Given the description of an element on the screen output the (x, y) to click on. 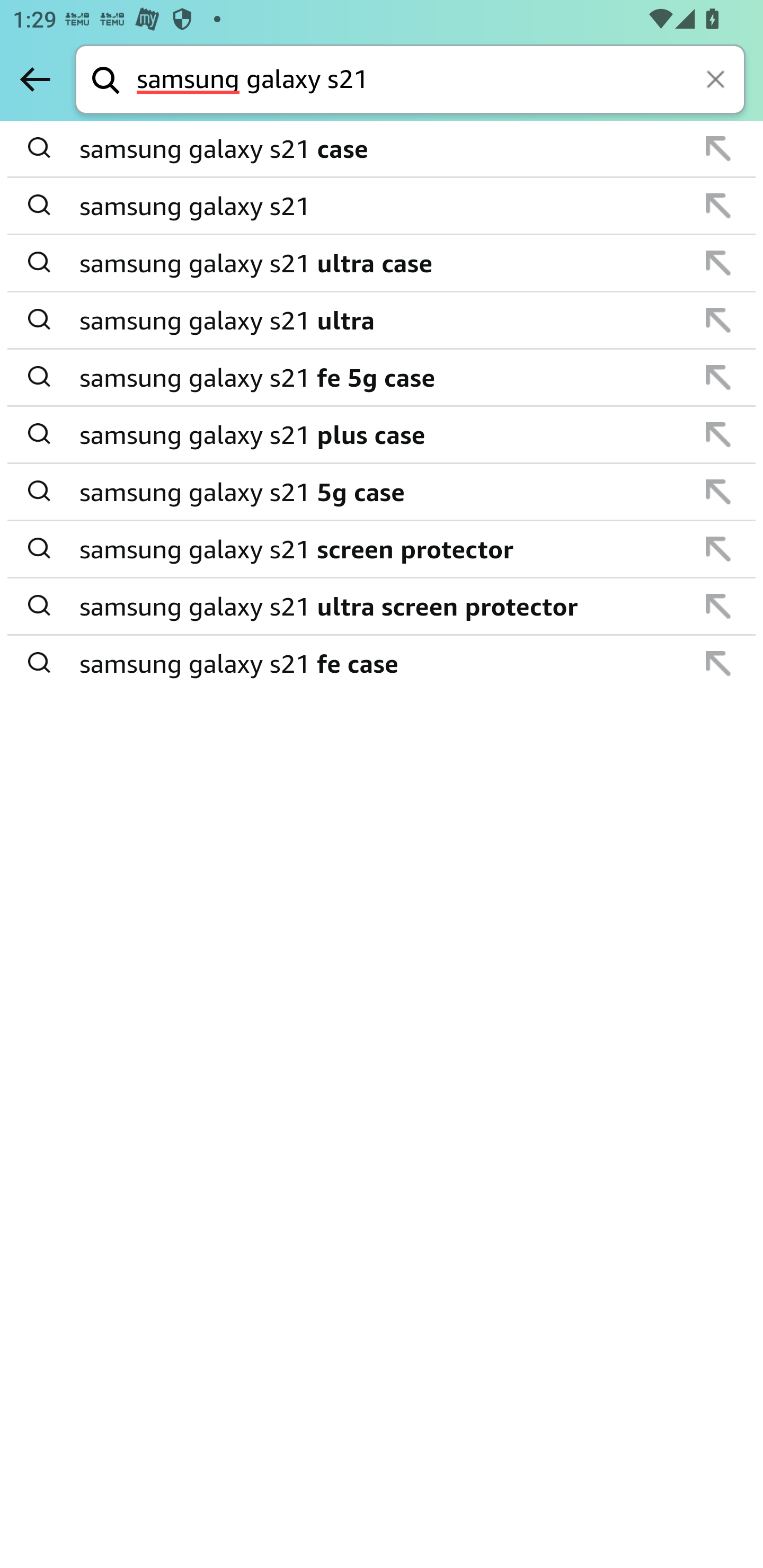
samsung galaxy s21 (440, 80)
Clear search keywords (717, 80)
Back (35, 78)
append suggestion samsung galaxy s21 case (381, 149)
samsung galaxy s21 case (382, 149)
append suggestion (718, 147)
samsung galaxy s21 (382, 205)
append suggestion samsung galaxy s21 (381, 206)
append suggestion (718, 205)
samsung galaxy s21 ultra case (382, 262)
append suggestion samsung galaxy s21 ultra case (381, 263)
append suggestion (718, 262)
samsung galaxy s21 ultra (382, 319)
append suggestion samsung galaxy s21 ultra (381, 320)
append suggestion (718, 319)
samsung galaxy s21 fe 5g case (382, 377)
append suggestion samsung galaxy s21 fe 5g case (381, 377)
append suggestion (718, 376)
samsung galaxy s21 plus case (382, 434)
append suggestion samsung galaxy s21 plus case (381, 435)
append suggestion (718, 434)
samsung galaxy s21 5g case (382, 491)
append suggestion samsung galaxy s21 5g case (381, 492)
append suggestion (718, 491)
samsung galaxy s21 screen protector (382, 548)
append suggestion (718, 548)
samsung galaxy s21 ultra screen protector (382, 606)
append suggestion (718, 605)
samsung galaxy s21 fe case (382, 662)
append suggestion samsung galaxy s21 fe case (381, 663)
append suggestion (718, 663)
